Given the description of an element on the screen output the (x, y) to click on. 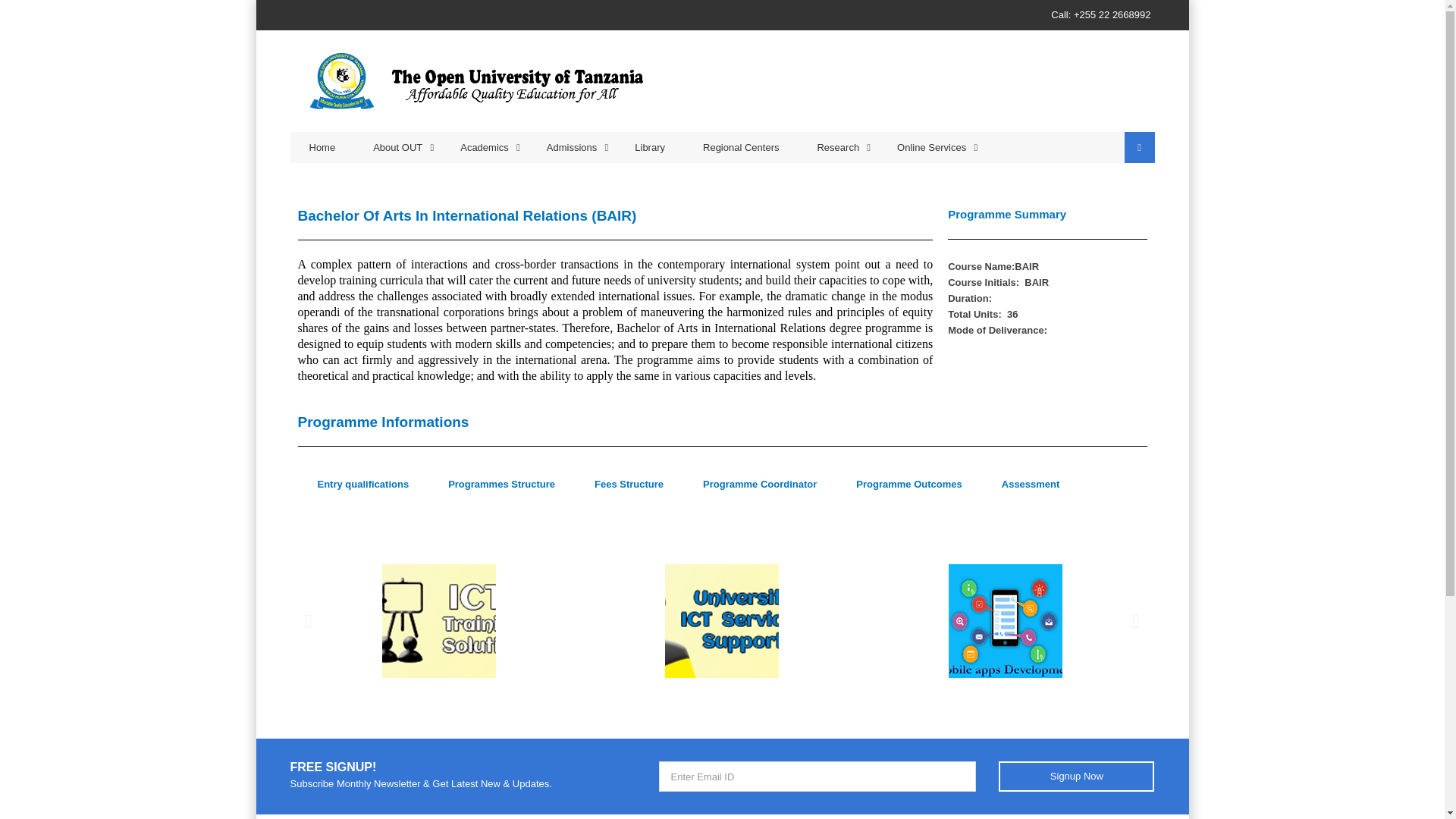
Academics (484, 146)
Home (321, 146)
Research (837, 146)
About OUT (397, 146)
Regional Centers (740, 146)
Admissions (571, 146)
Library (649, 146)
